Given the description of an element on the screen output the (x, y) to click on. 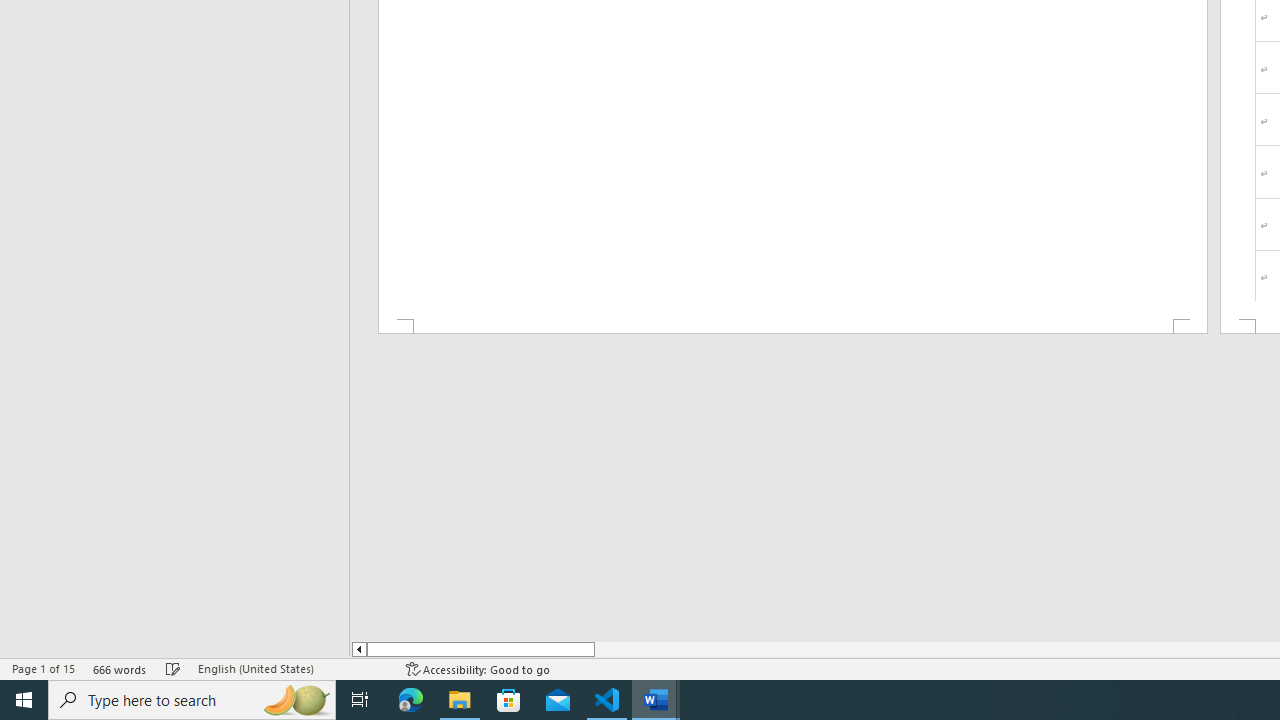
Accessibility Checker Accessibility: Good to go (478, 668)
Footer -Section 1- (792, 326)
Page Number Page 1 of 15 (43, 668)
Word Count 666 words (119, 668)
Spelling and Grammar Check Checking (173, 668)
Column left (358, 649)
